Given the description of an element on the screen output the (x, y) to click on. 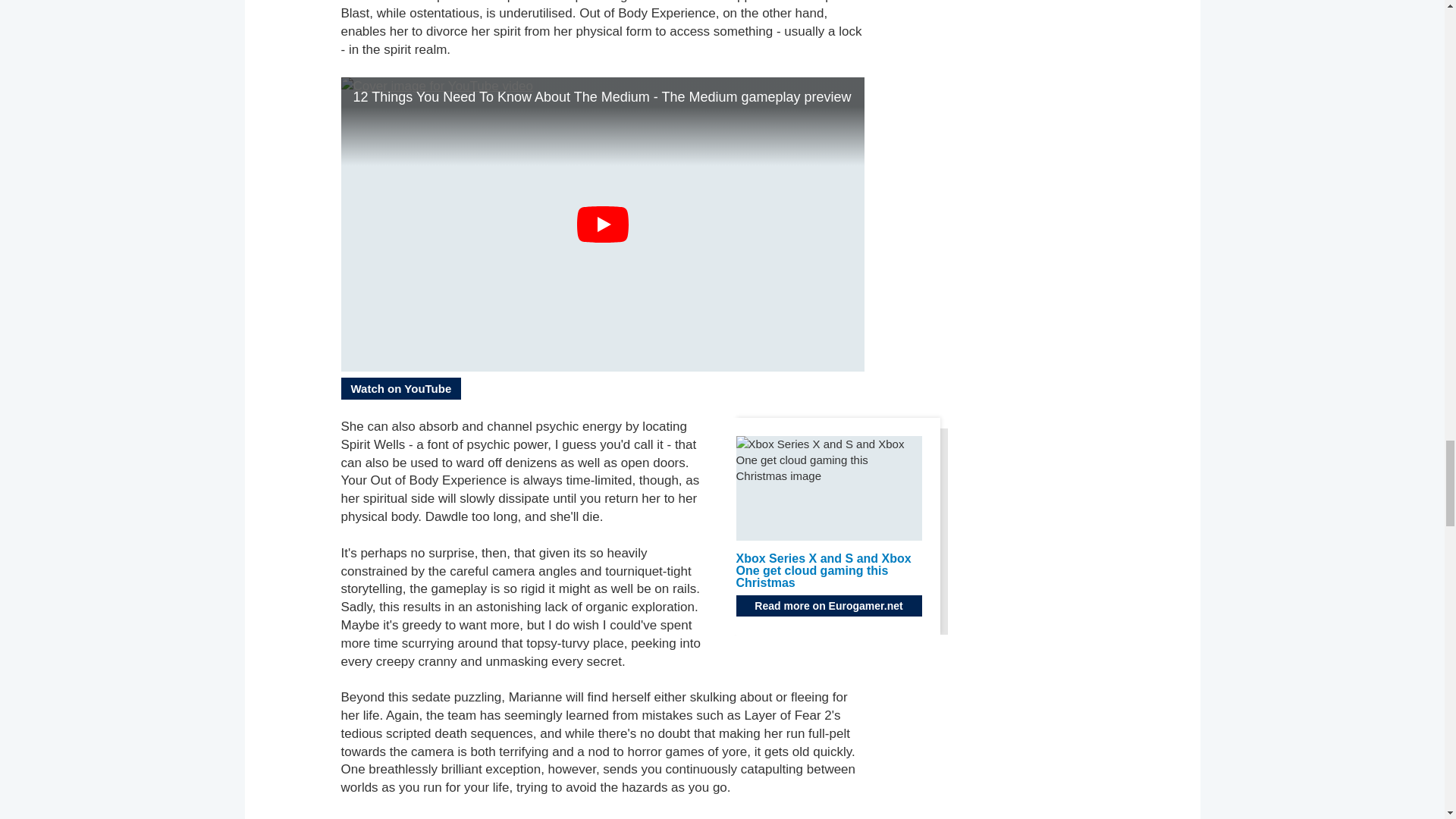
Watch on YouTube (400, 388)
